Given the description of an element on the screen output the (x, y) to click on. 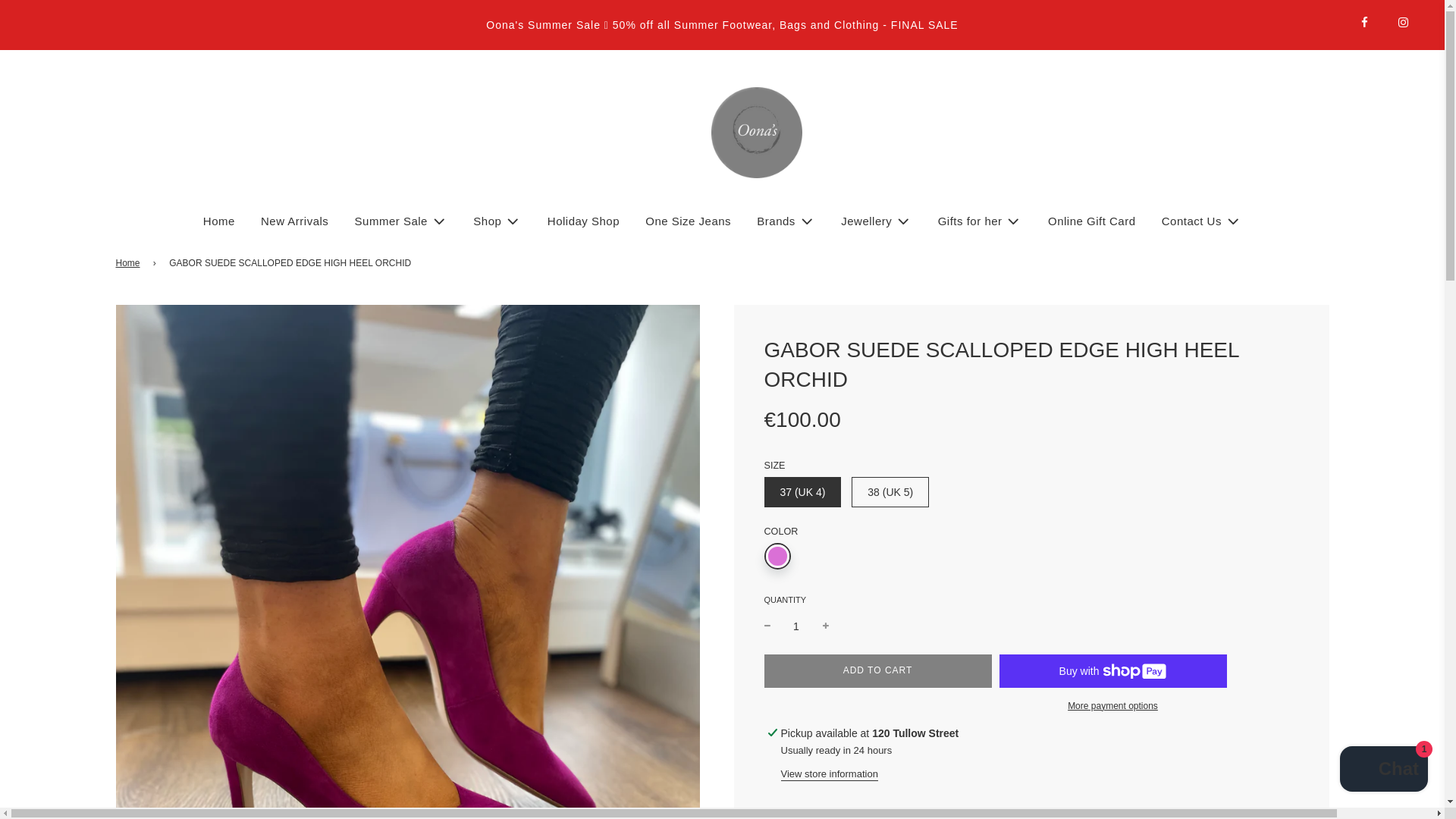
Shopify online store chat (1383, 770)
Back to the frontpage (129, 263)
1 (796, 626)
